Given the description of an element on the screen output the (x, y) to click on. 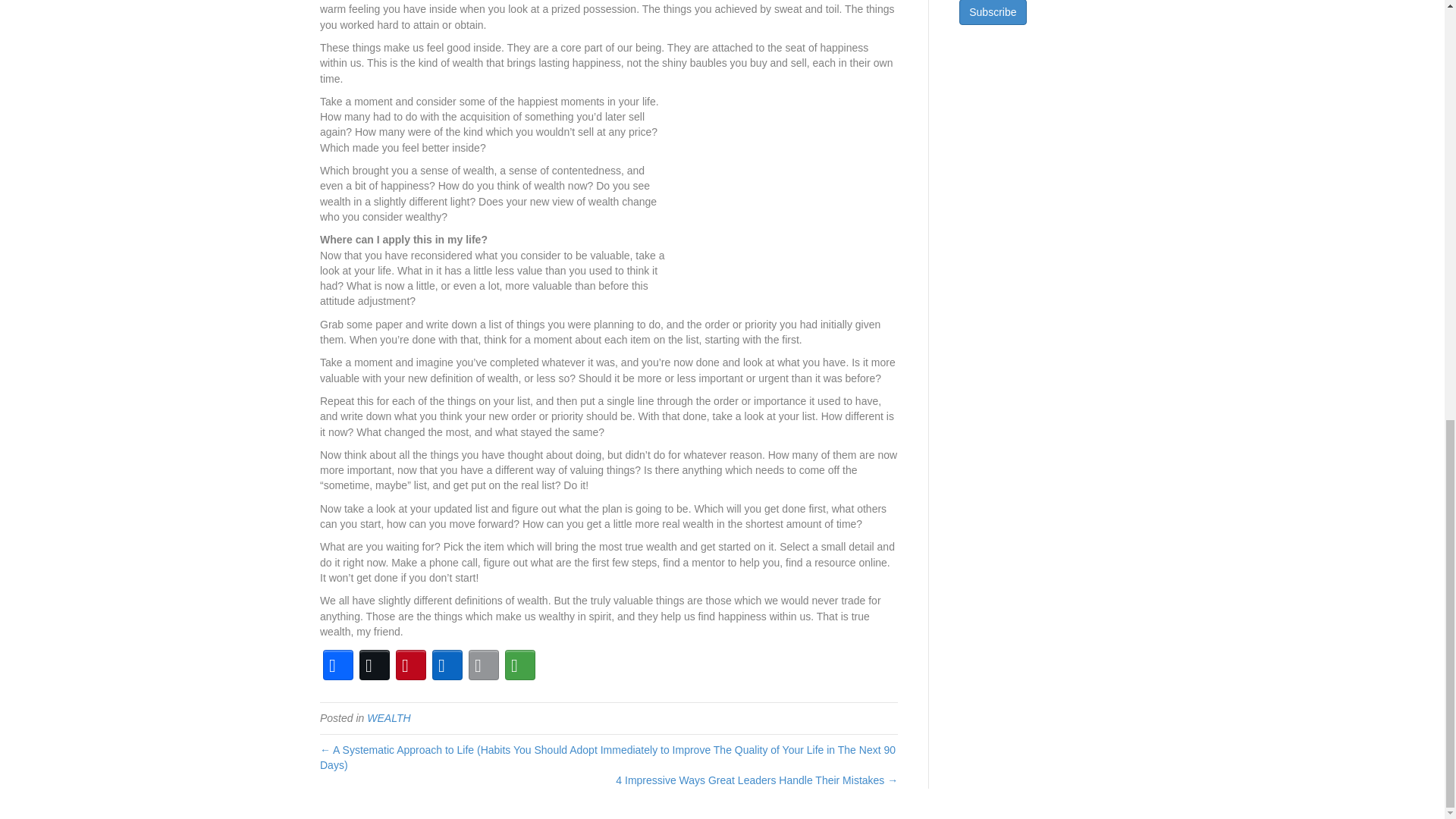
WEALTH (388, 717)
Subscribe (992, 12)
Pinterest (411, 665)
LinkedIn (447, 665)
More Options (520, 665)
Advertisement (783, 188)
Facebook (338, 665)
Subscribe (992, 12)
Email This (483, 665)
